Given the description of an element on the screen output the (x, y) to click on. 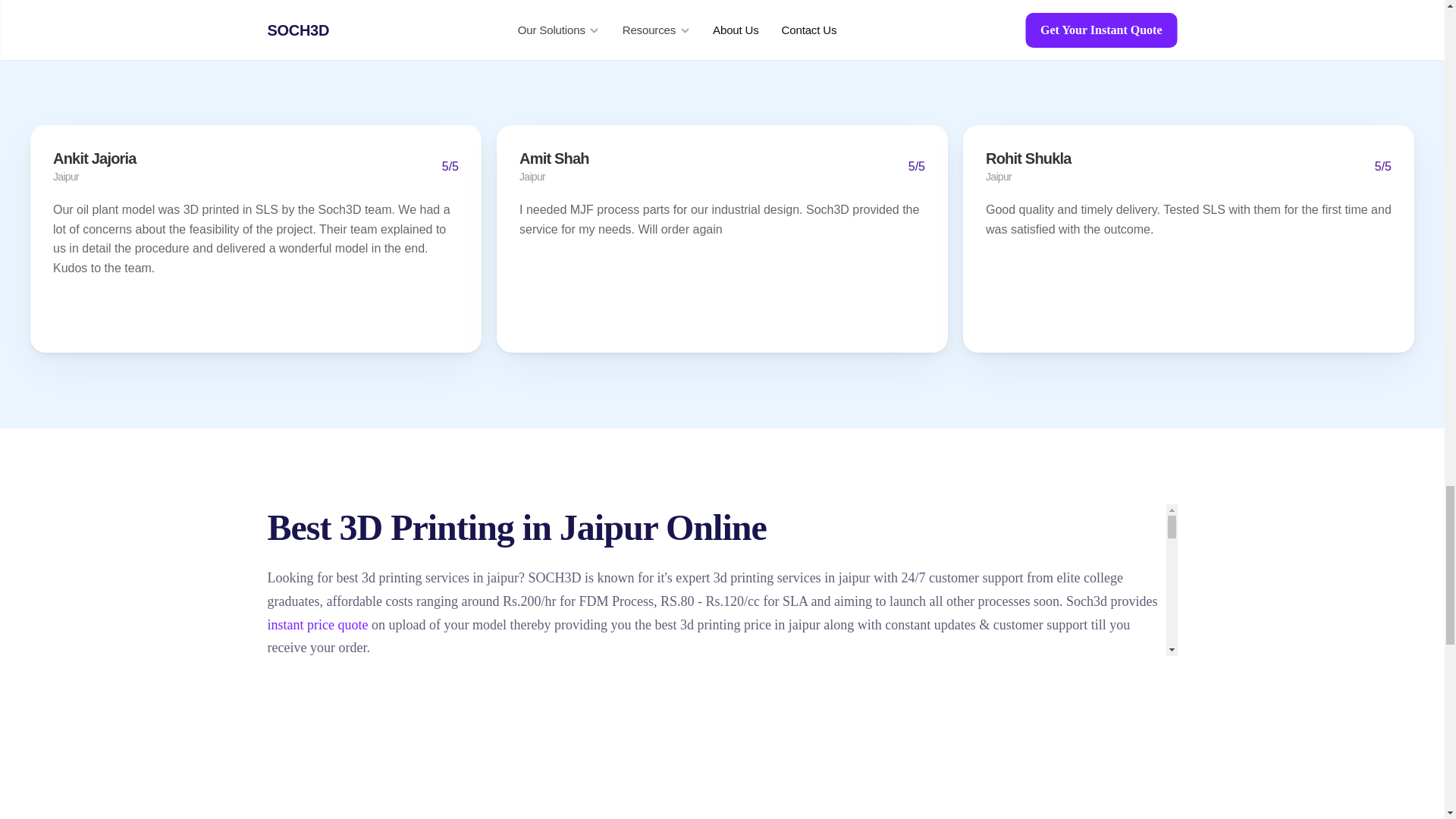
3d modeling services across india (764, 732)
instant price quote (317, 624)
